Given the description of an element on the screen output the (x, y) to click on. 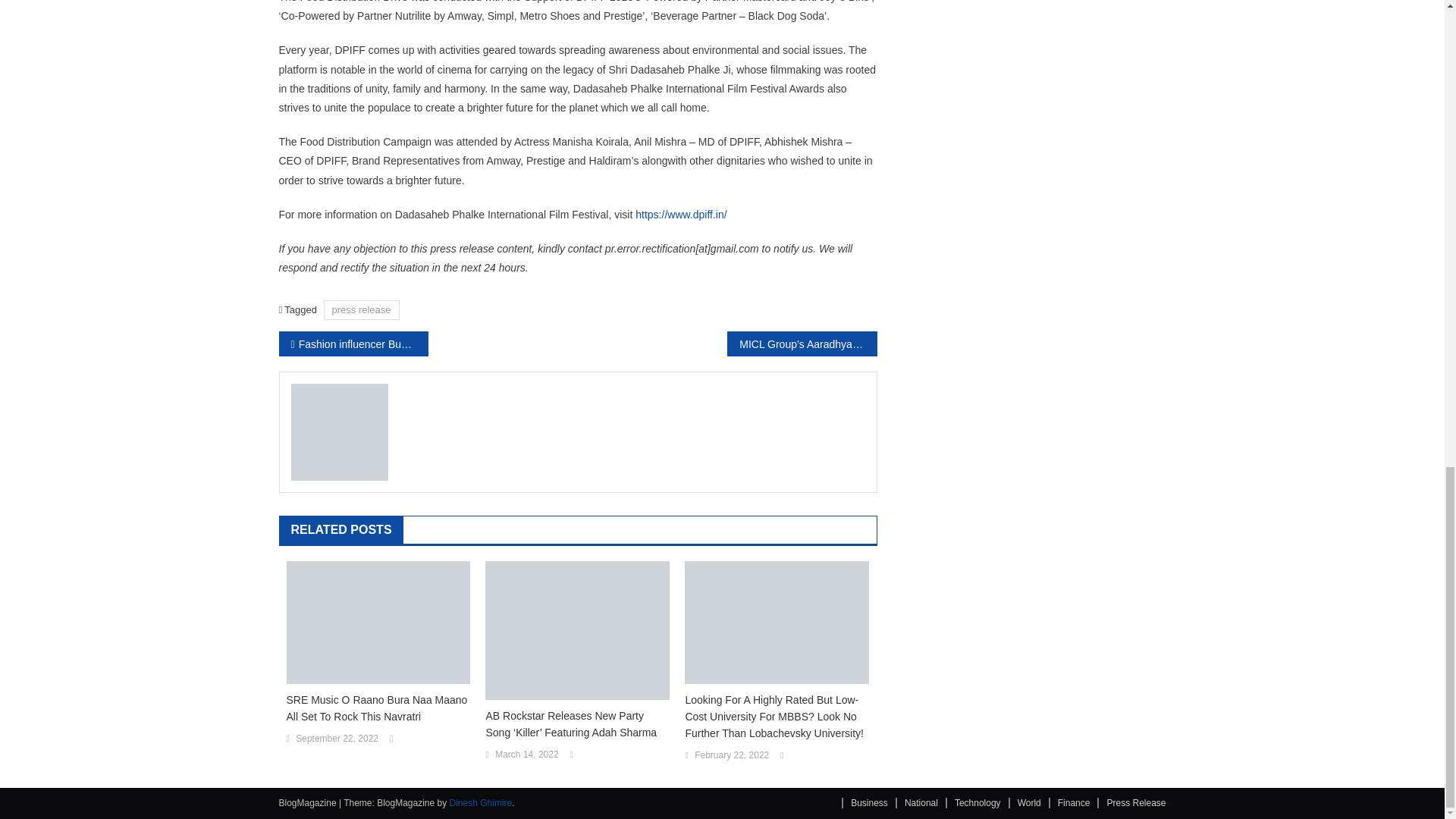
September 22, 2022 (336, 739)
March 14, 2022 (526, 754)
press release (360, 309)
